Given the description of an element on the screen output the (x, y) to click on. 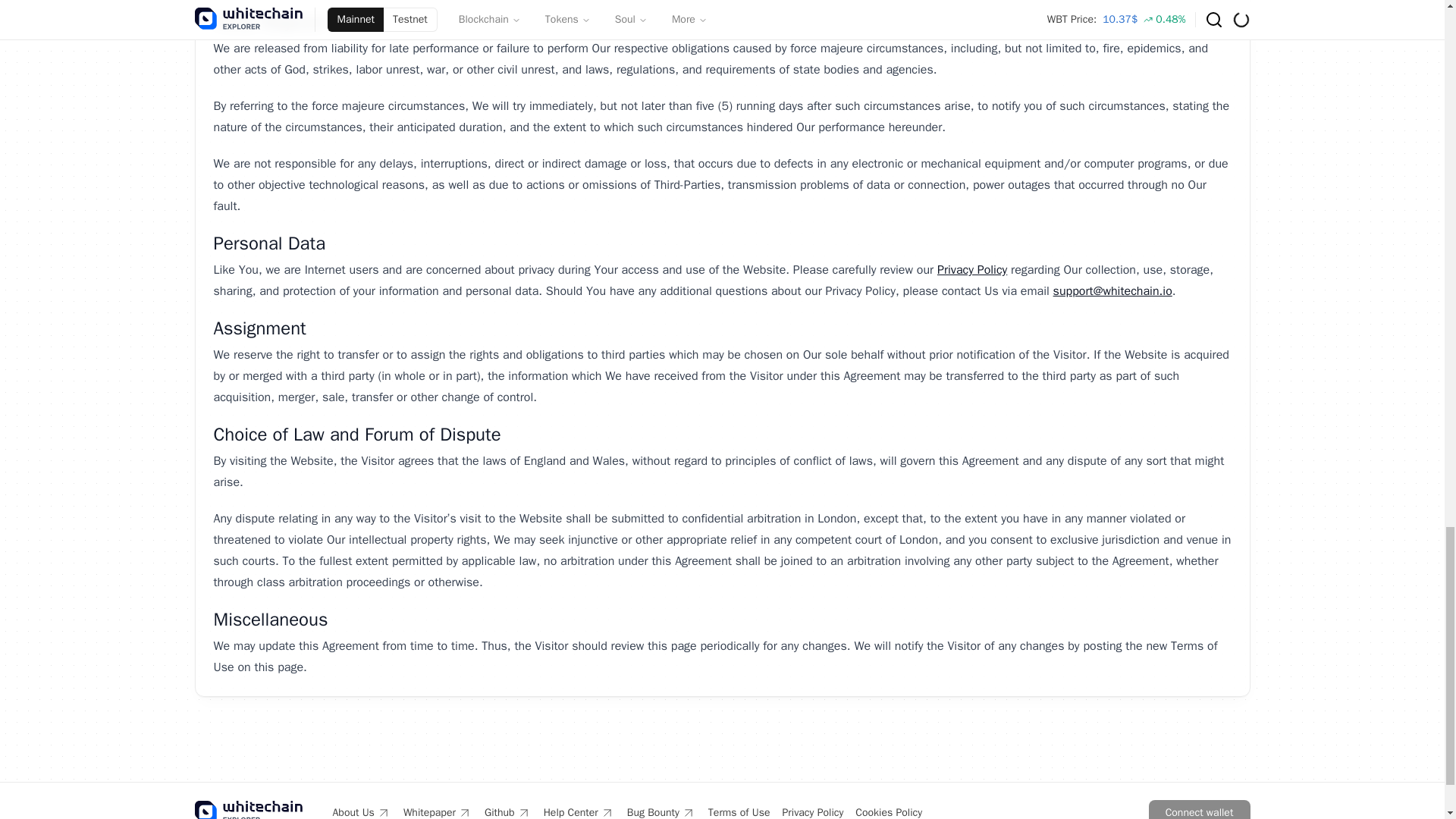
Privacy Policy (972, 269)
Whitepaper (437, 812)
Bug Bounty (661, 812)
About Us (360, 812)
Connect wallet (1198, 809)
Help Center (578, 812)
Terms of Use (738, 812)
Cookies Policy (888, 812)
Privacy Policy (813, 812)
Github (507, 812)
